Given the description of an element on the screen output the (x, y) to click on. 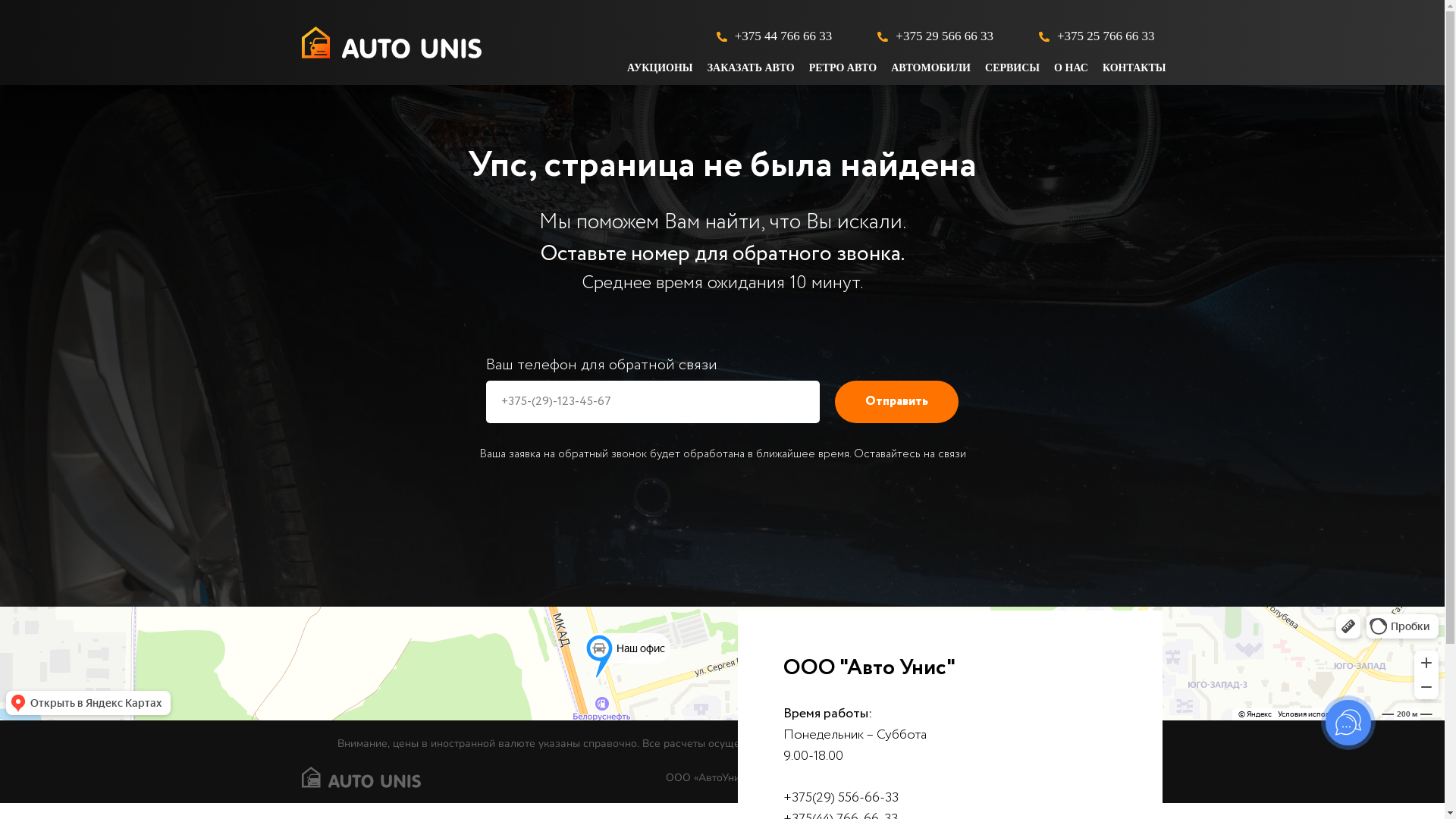
+375 25 766 66 33 Element type: text (1105, 36)
+375 29 566 66 33 Element type: text (944, 36)
+375(29) 556-66-33 Element type: text (839, 797)
+375 44 766 66 33 Element type: text (783, 36)
